Given the description of an element on the screen output the (x, y) to click on. 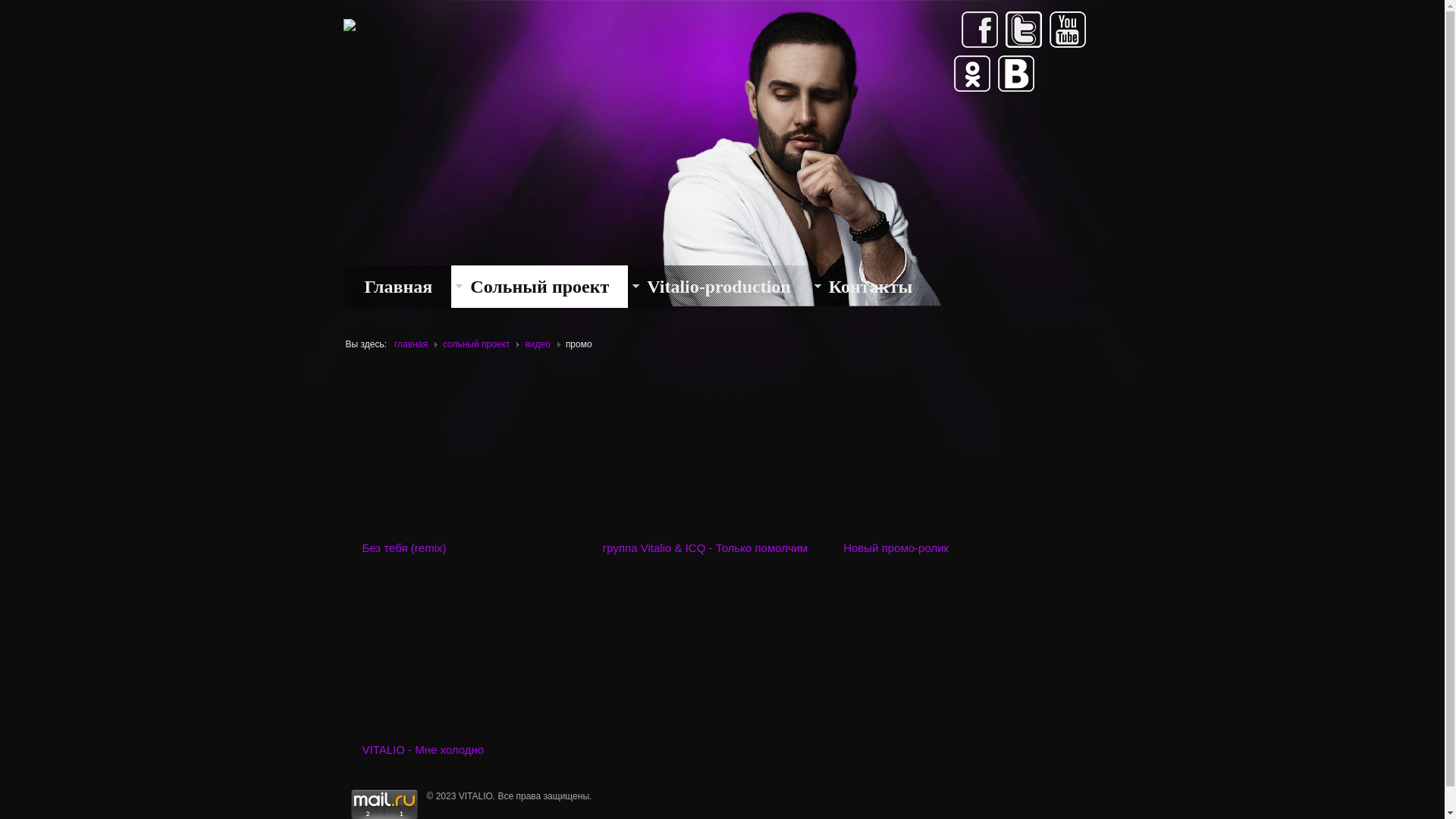
vitalio in promodj Element type: hover (953, 52)
VITALIO PRODUCTION Element type: hover (348, 22)
Vitalio-production Element type: text (718, 286)
